Given the description of an element on the screen output the (x, y) to click on. 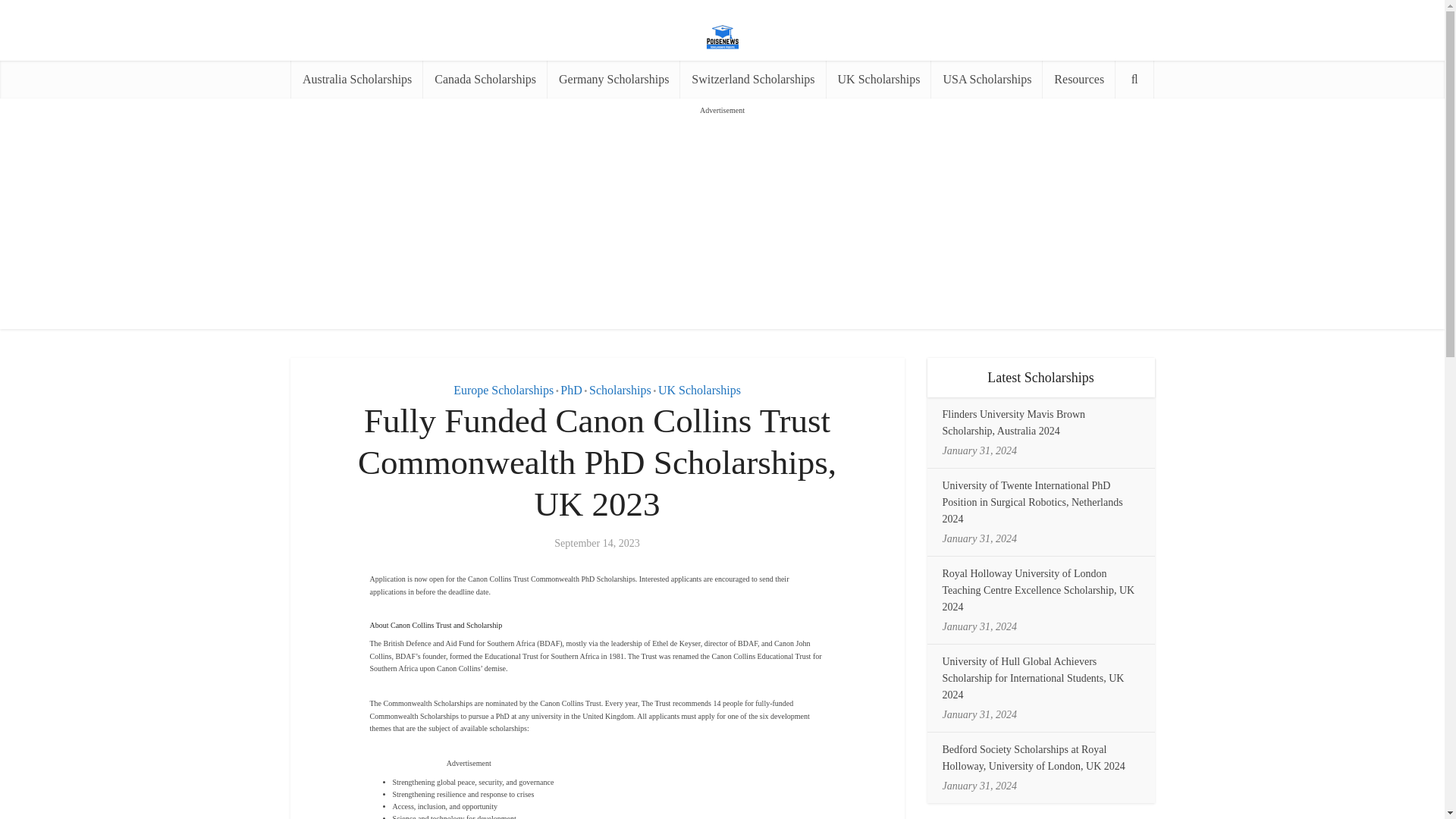
UK Scholarships (699, 390)
Resources (1078, 79)
Flinders University Mavis Brown Scholarship, Australia 2024 (1013, 422)
UK Scholarships (879, 79)
Germany Scholarships (613, 79)
Canada Scholarships (485, 79)
Europe Scholarships (502, 390)
Scholarships (619, 390)
PhD (570, 390)
Australia Scholarships (357, 79)
USA Scholarships (986, 79)
